Given the description of an element on the screen output the (x, y) to click on. 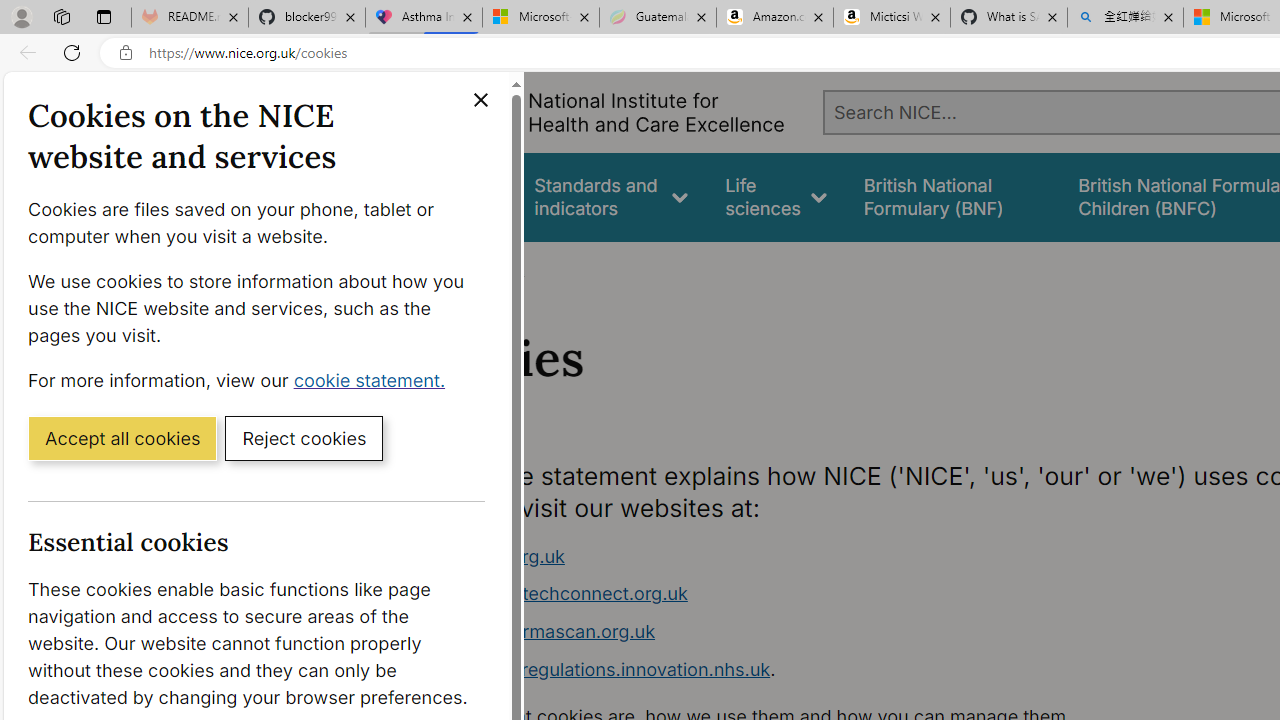
www.nice.org.uk (796, 556)
Microsoft-Report a Concern to Bing (540, 17)
Guidance (458, 196)
